Given the description of an element on the screen output the (x, y) to click on. 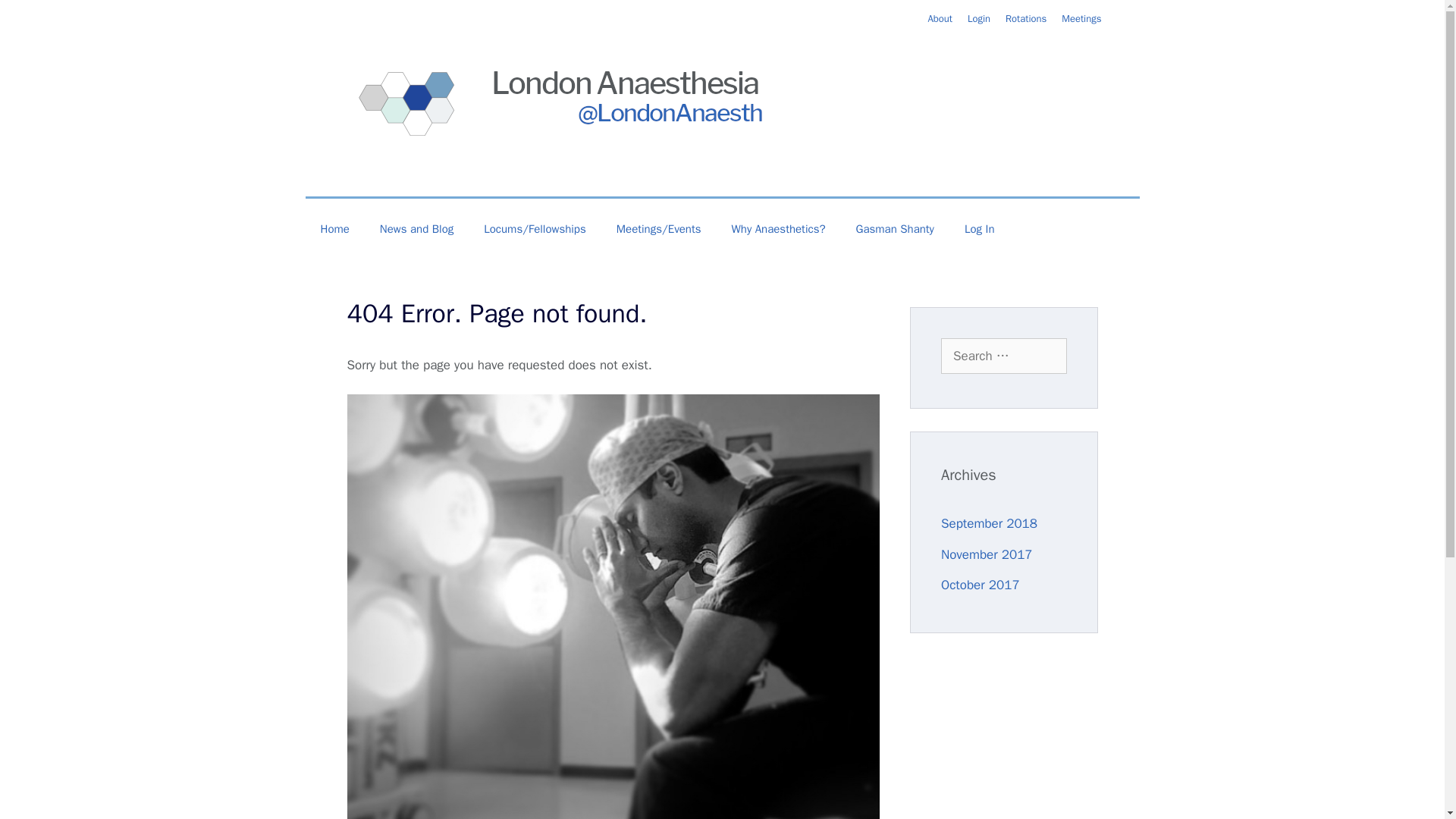
Login (979, 18)
Search for: (1003, 356)
Log In (979, 228)
News and Blog (416, 228)
Search (35, 18)
October 2017 (980, 584)
Gasman Shanty (895, 228)
About (939, 18)
Meetings (1080, 18)
November 2017 (986, 553)
Home (334, 228)
September 2018 (988, 523)
Why Anaesthetics? (778, 228)
Rotations (1026, 18)
